Given the description of an element on the screen output the (x, y) to click on. 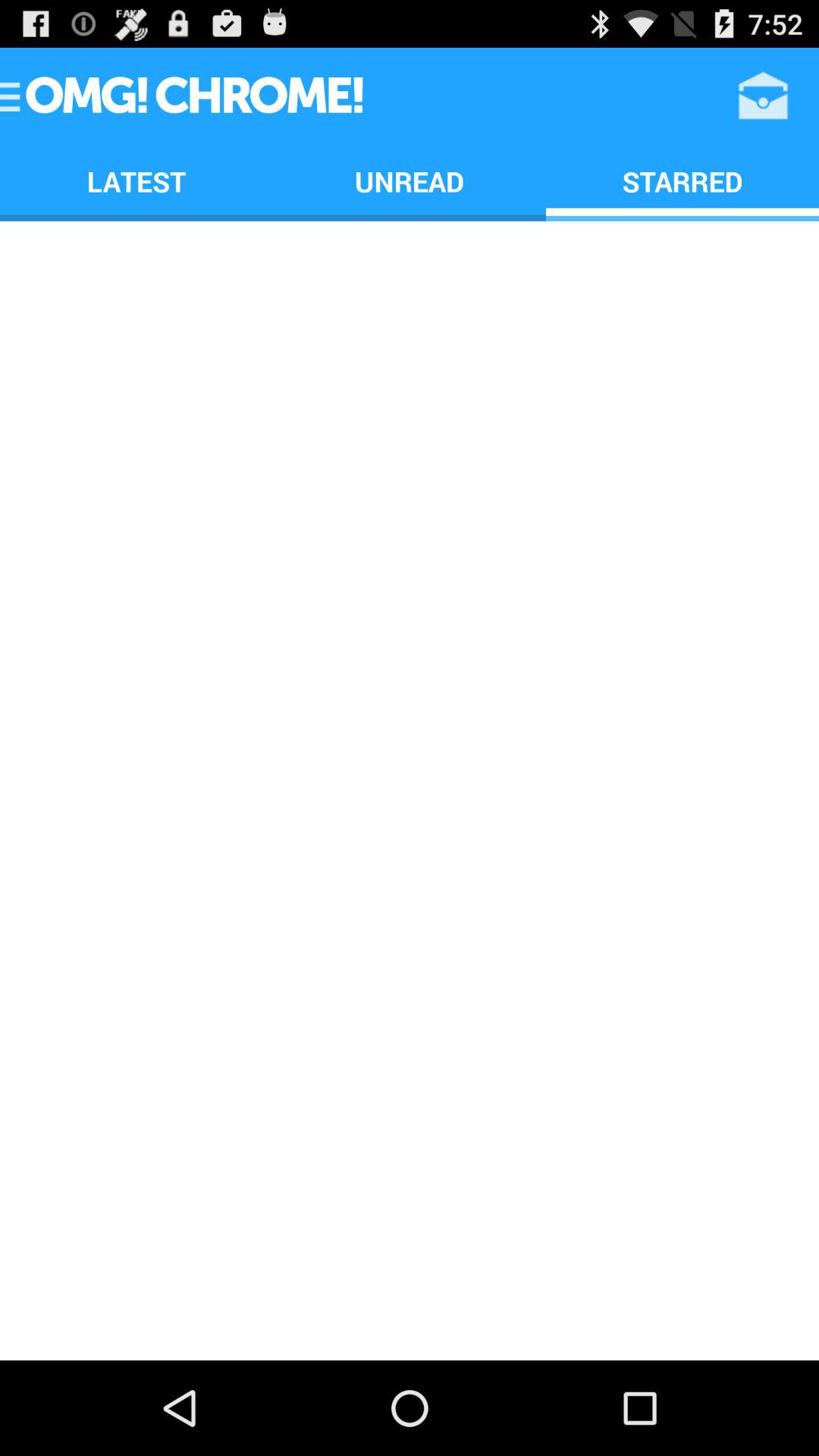
swipe to the starred app (682, 181)
